Given the description of an element on the screen output the (x, y) to click on. 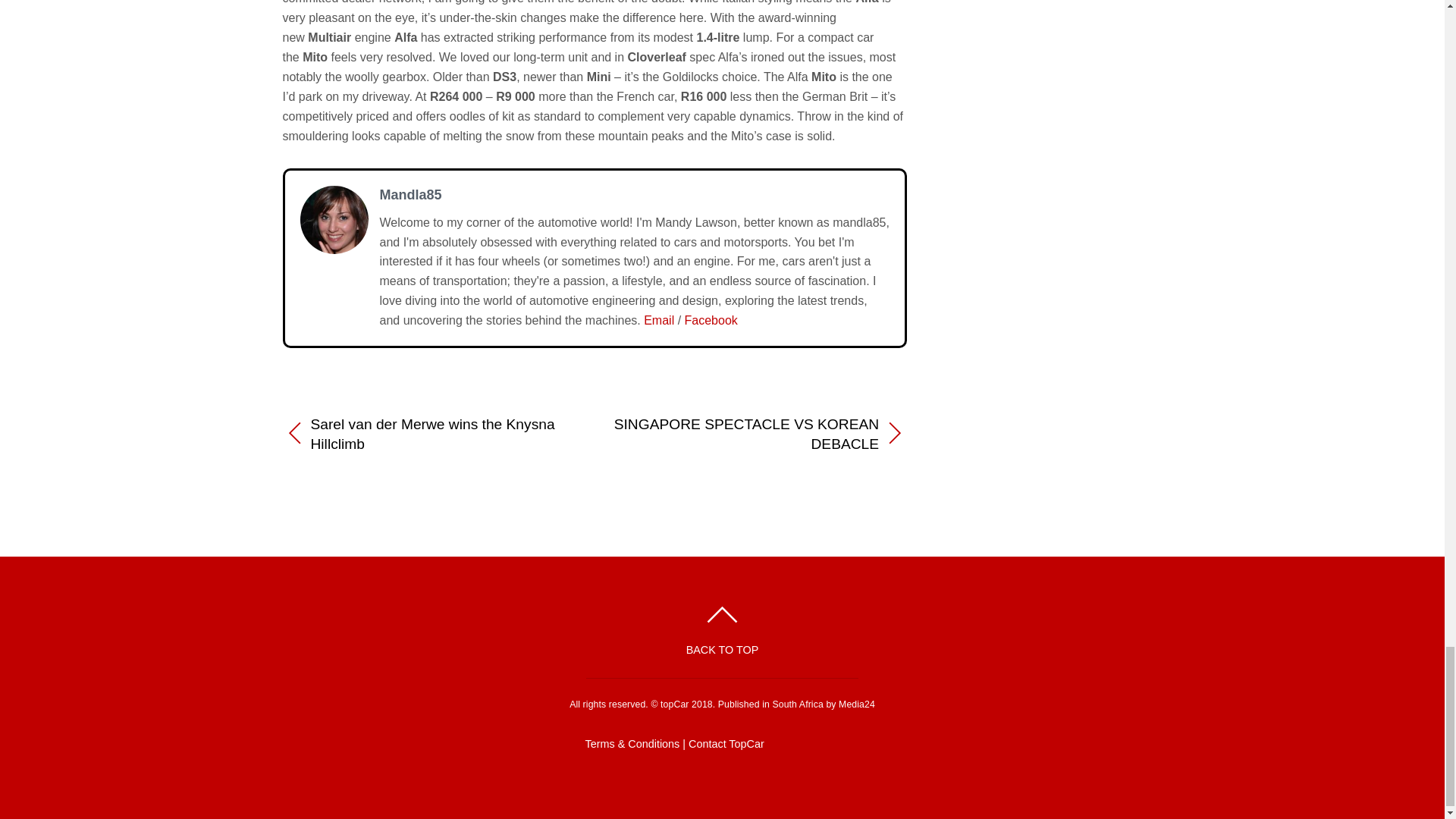
Facebook (711, 319)
Mandla85 (409, 194)
Email (658, 319)
